Given the description of an element on the screen output the (x, y) to click on. 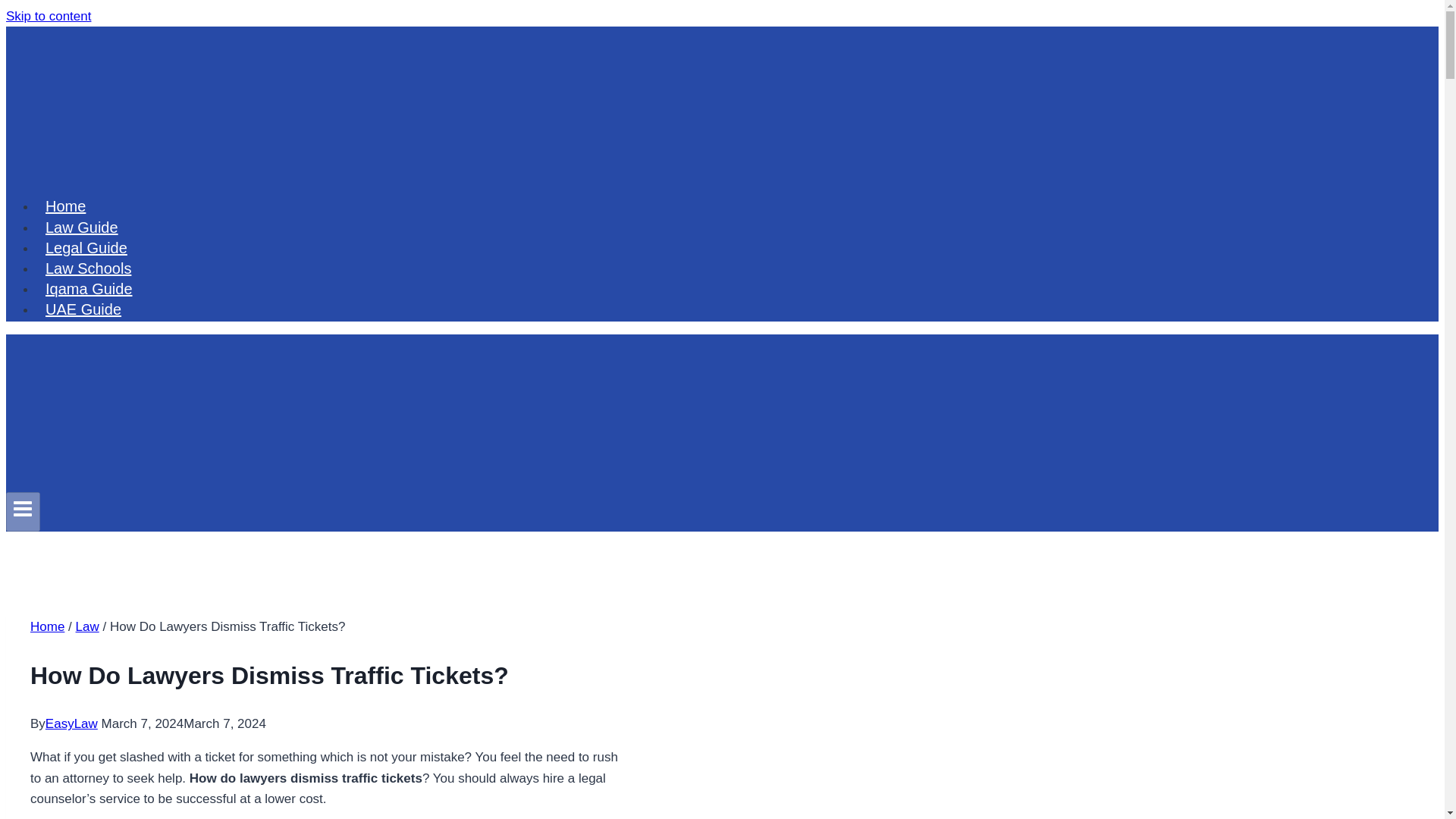
Law Schools (87, 267)
EasyLaw (71, 723)
Skip to content (47, 16)
Home (65, 206)
Skip to content (47, 16)
Law (87, 626)
UAE Guide (83, 308)
Law Guide (82, 226)
Home (47, 626)
Iqama Guide (88, 288)
